Given the description of an element on the screen output the (x, y) to click on. 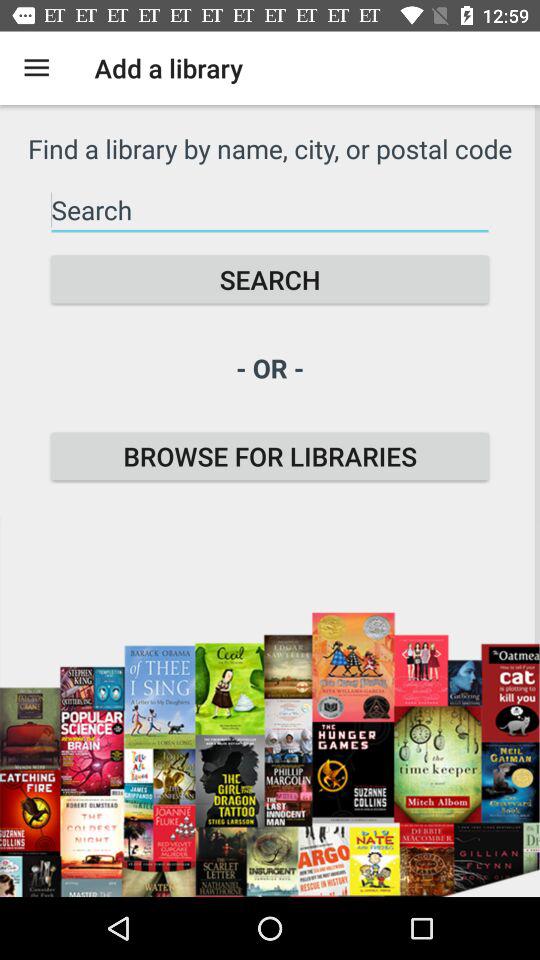
tap the icon above the search icon (269, 210)
